Given the description of an element on the screen output the (x, y) to click on. 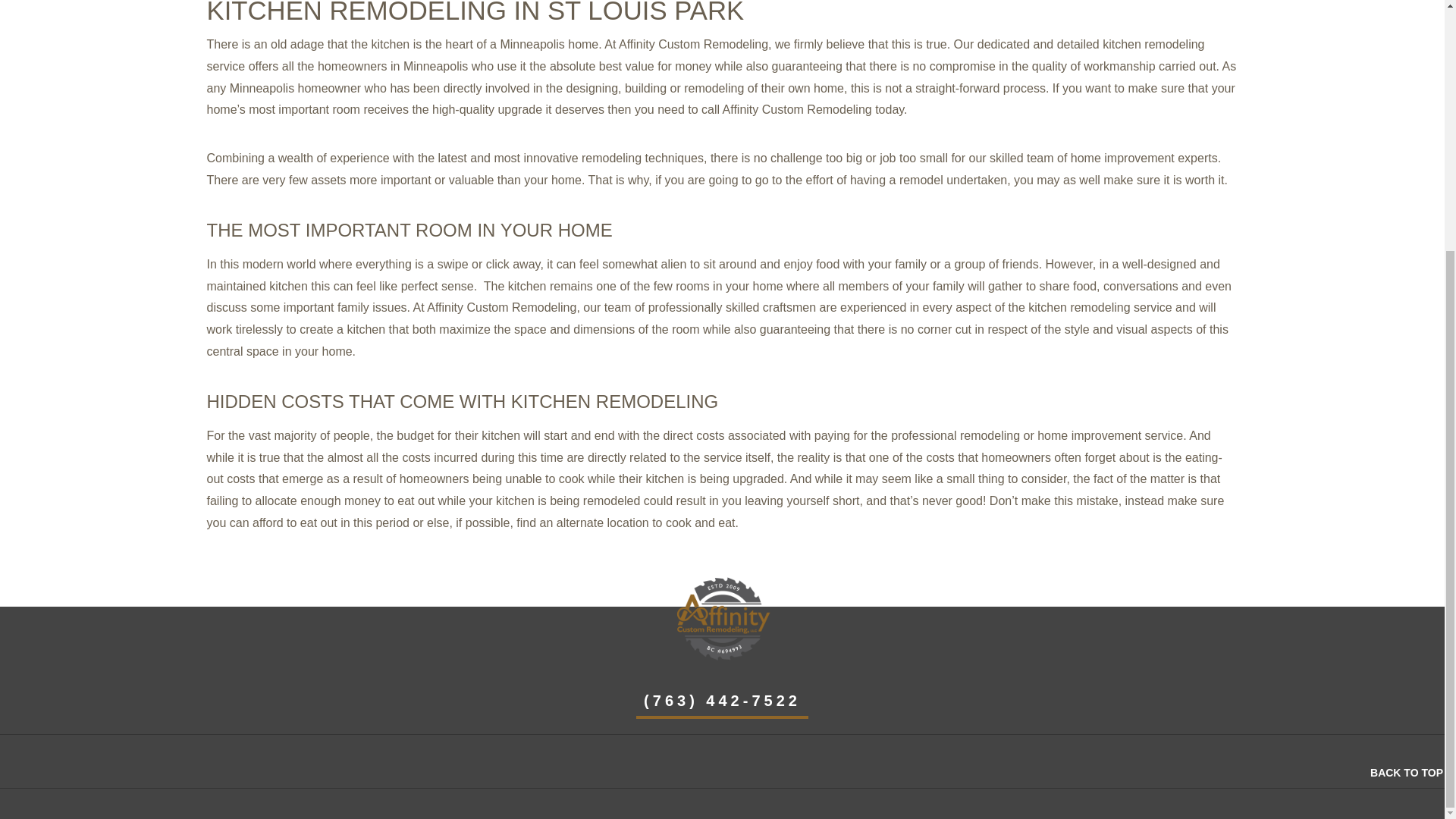
Follow on Instagram (706, 762)
View Google Maps (737, 762)
Affinity Custom Remodeling (722, 617)
